Given the description of an element on the screen output the (x, y) to click on. 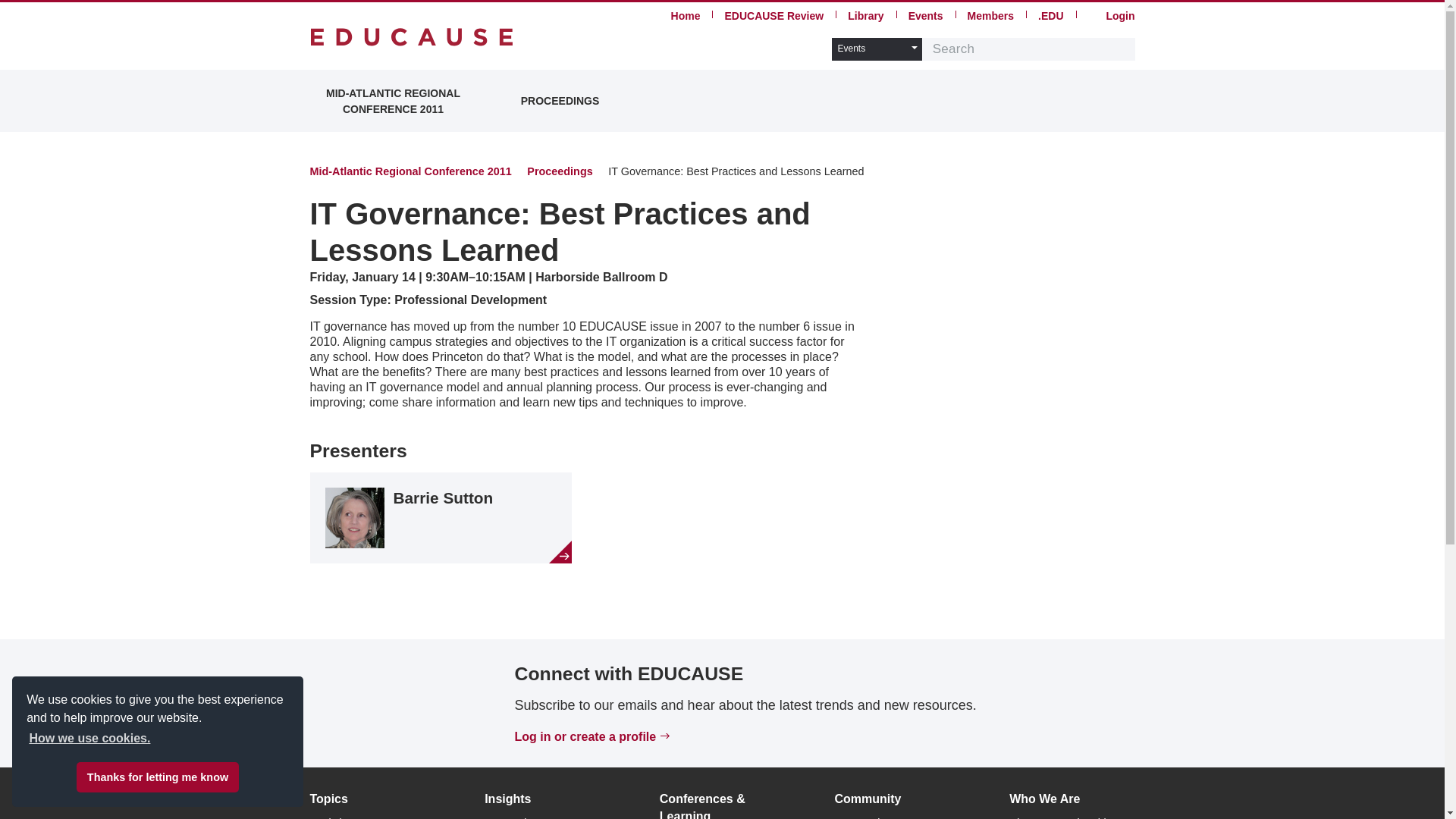
Home (410, 36)
.EDU (1050, 15)
EDUCAUSE Review (773, 15)
Library (865, 15)
MID-ATLANTIC REGIONAL CONFERENCE 2011 (392, 99)
Research (506, 817)
Analytics (330, 817)
Members (990, 15)
How we use cookies. (89, 738)
Home (685, 15)
Log in or create a profile (584, 736)
Events (925, 15)
Mid-Atlantic Regional Conference 2011 (409, 171)
Thanks for letting me know (157, 777)
Topics (327, 798)
